Given the description of an element on the screen output the (x, y) to click on. 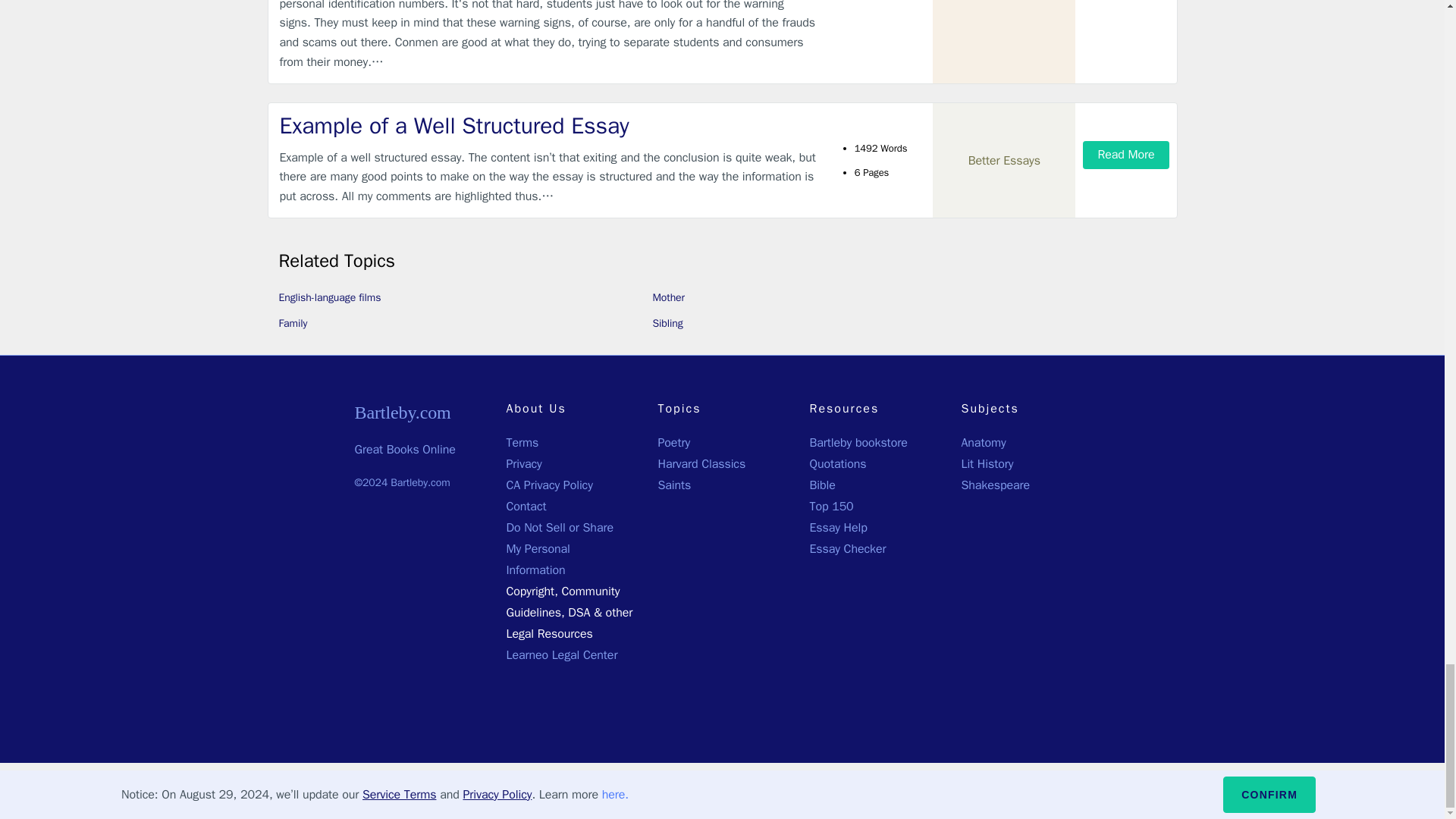
English-language films (330, 297)
Family (293, 323)
Mother (668, 297)
Sibling (667, 323)
